Given the description of an element on the screen output the (x, y) to click on. 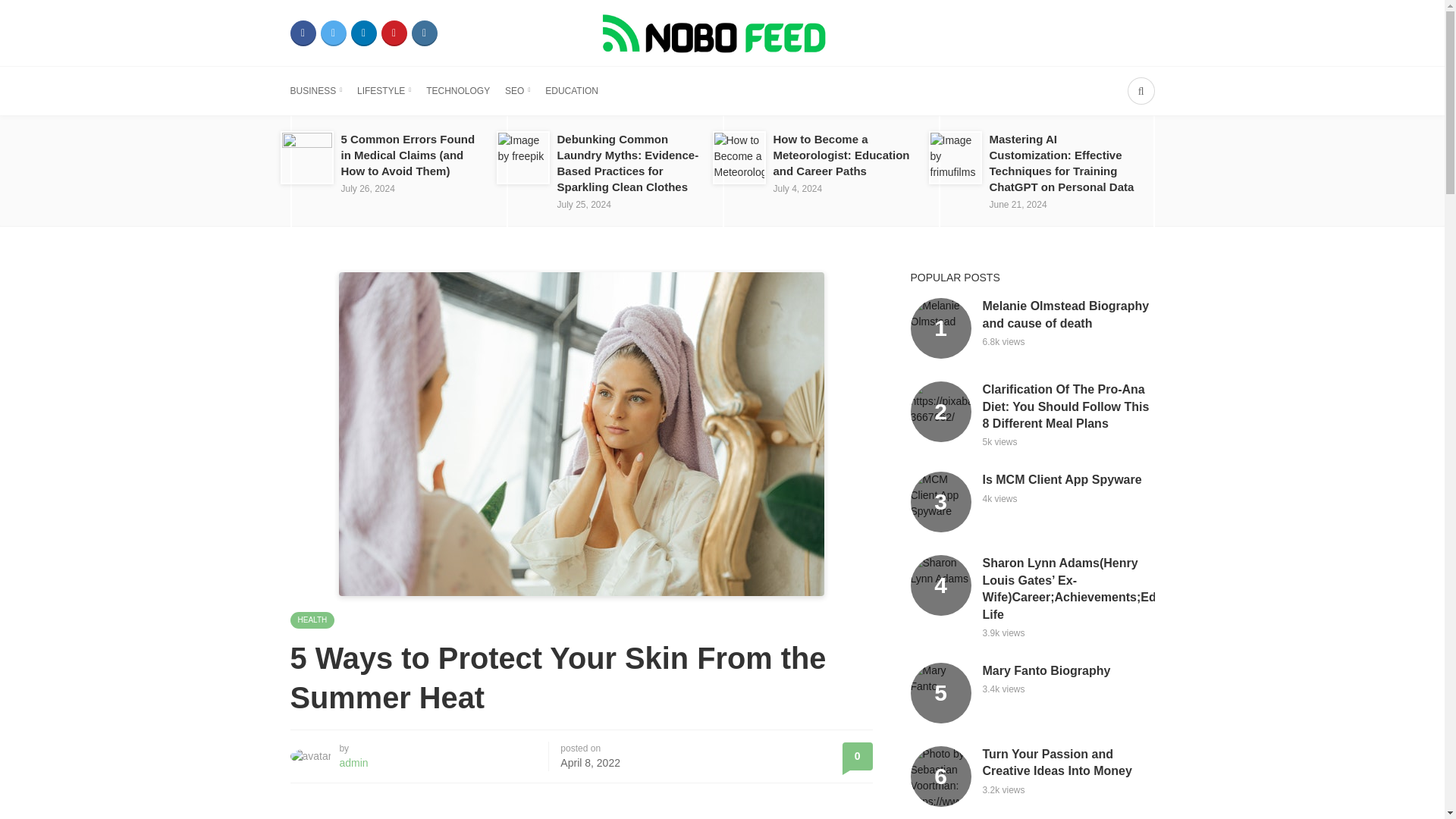
Instagram (423, 32)
Pinterest (393, 32)
June 21, 2024 (1017, 204)
EDUCATION (571, 90)
July 25, 2024 (583, 204)
Linkedin (362, 32)
facebook (302, 32)
LIFESTYLE (383, 90)
Posts by admin (353, 762)
Nobofeed (721, 32)
